Given the description of an element on the screen output the (x, y) to click on. 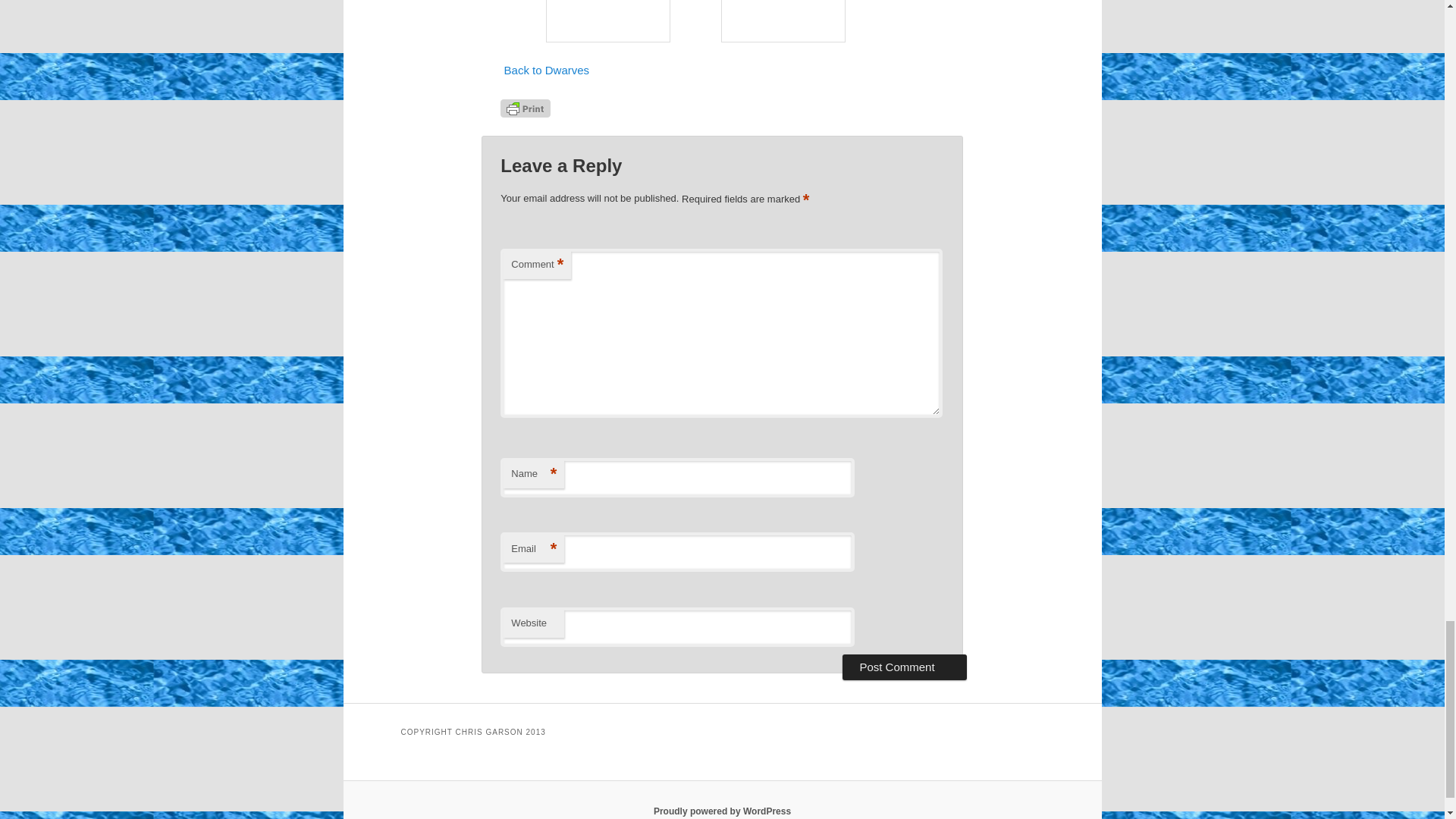
Post Comment (904, 667)
dwarf king achmad cont 2 (607, 21)
dwarf king achmad cont 3 (782, 21)
Dwarves (546, 69)
